Given the description of an element on the screen output the (x, y) to click on. 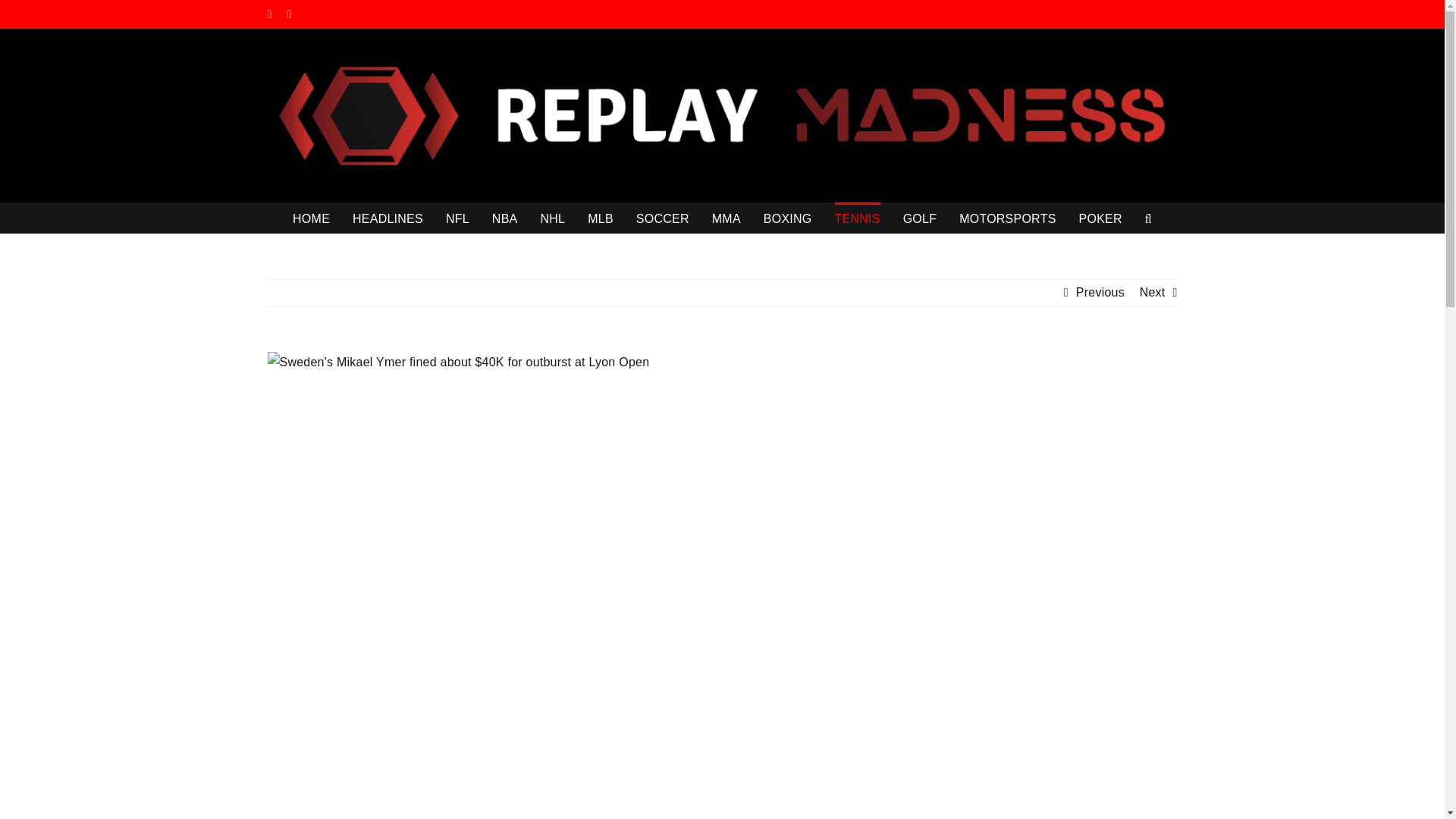
HEADLINES (387, 217)
GOLF (919, 217)
MLB (600, 217)
TENNIS (856, 217)
Next (1153, 292)
MMA (726, 217)
X (268, 14)
NFL (456, 217)
MOTORSPORTS (1007, 217)
Search (1147, 217)
POKER (1100, 217)
HOME (311, 217)
Previous (1099, 292)
SOCCER (662, 217)
Pinterest (289, 14)
